Given the description of an element on the screen output the (x, y) to click on. 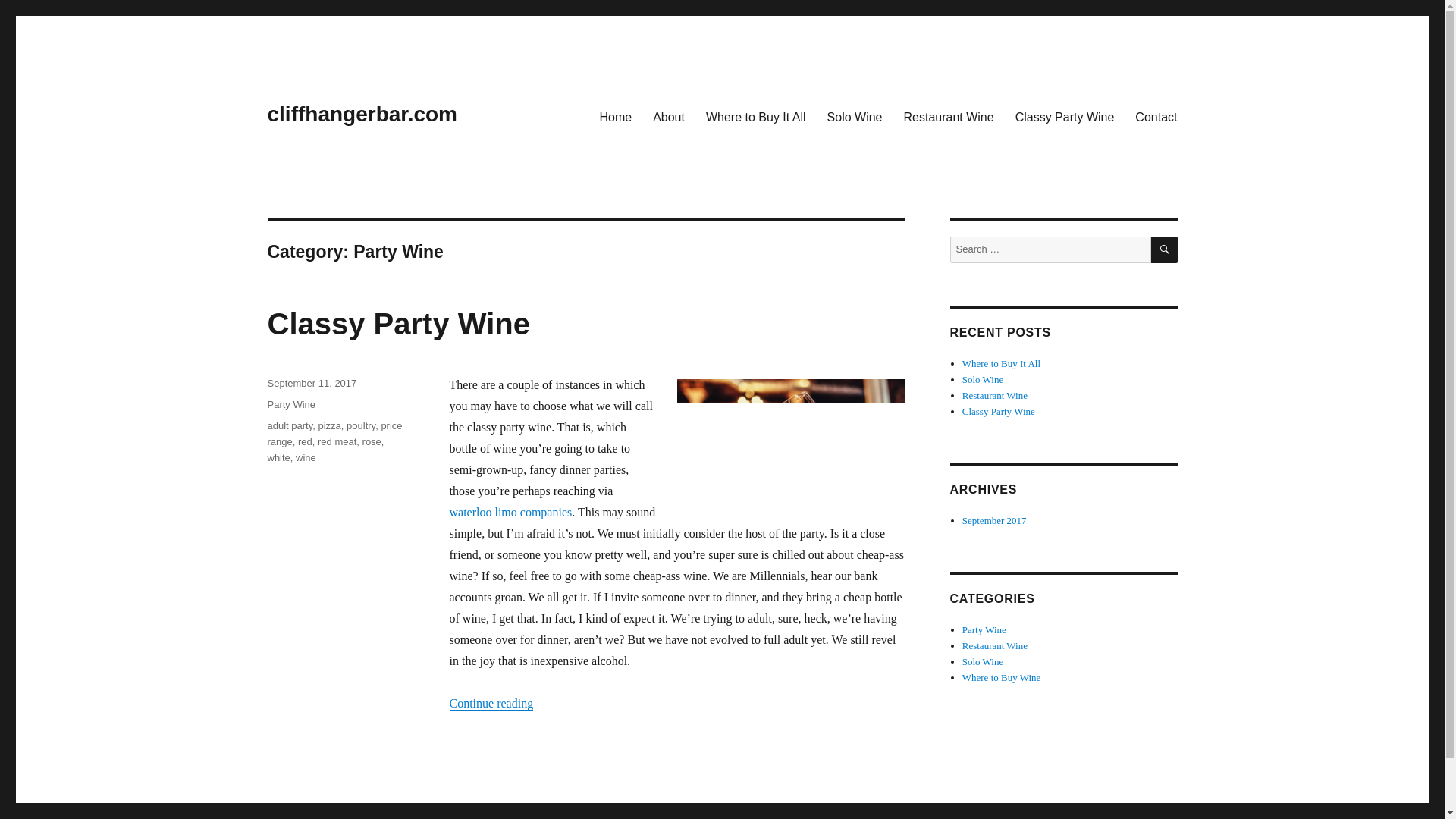
Restaurant Wine (994, 645)
Where to Buy Wine (1001, 677)
Where to Buy It All (755, 116)
Home (615, 116)
Contact (1156, 116)
Solo Wine (983, 661)
Party Wine (290, 404)
Party Wine (984, 629)
poultry (360, 425)
pizza (328, 425)
Classy Party Wine (998, 410)
red (305, 441)
Solo Wine (983, 378)
white (277, 457)
Restaurant Wine (994, 395)
